Given the description of an element on the screen output the (x, y) to click on. 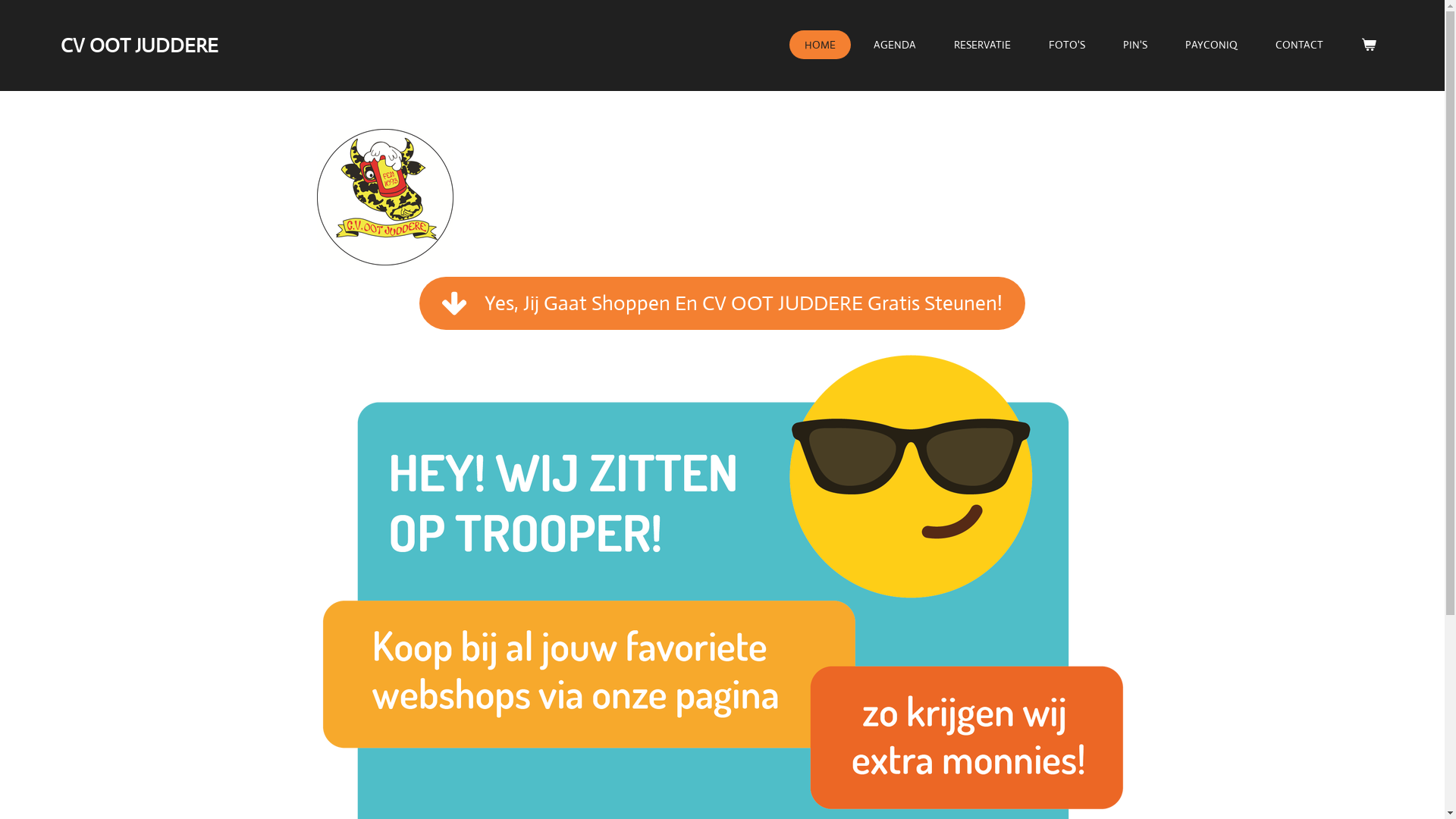
Yes, Jij Gaat Shoppen En CV OOT JUDDERE Gratis Steunen! Element type: text (722, 302)
Bekijk winkelwagen Element type: hover (1368, 44)
AGENDA Element type: text (894, 44)
CONTACT Element type: text (1299, 44)
PIN'S Element type: text (1134, 44)
FOTO'S Element type: text (1066, 44)
HOME Element type: text (819, 44)
PAYCONIQ Element type: text (1211, 44)
RESERVATIE Element type: text (982, 44)
